Given the description of an element on the screen output the (x, y) to click on. 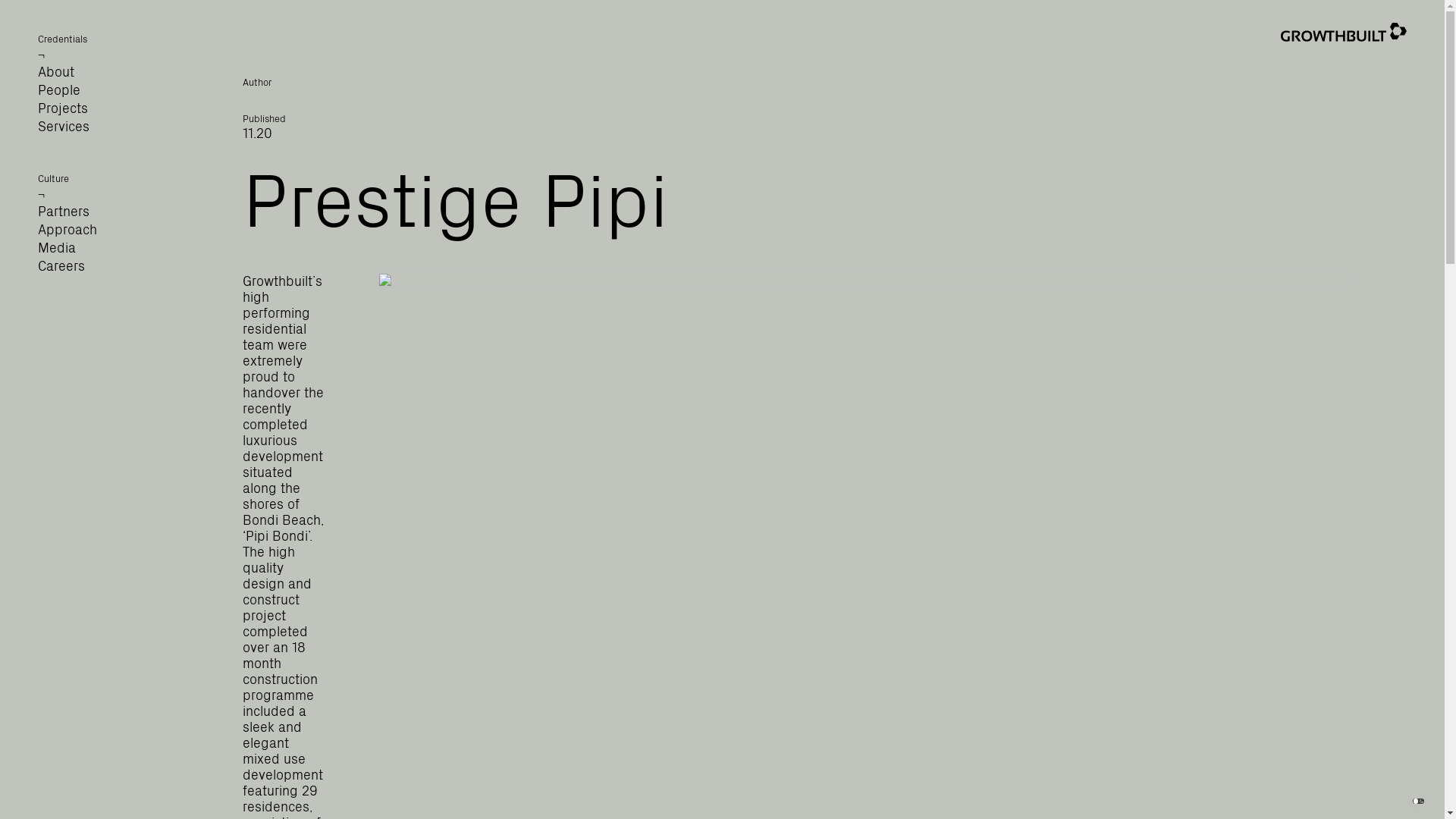
People Element type: text (58, 89)
Projects Element type: text (62, 107)
Partners Element type: text (63, 210)
Approach Element type: text (67, 228)
About Element type: text (55, 70)
Services Element type: text (63, 125)
Media Element type: text (56, 246)
Careers Element type: text (60, 265)
